Given the description of an element on the screen output the (x, y) to click on. 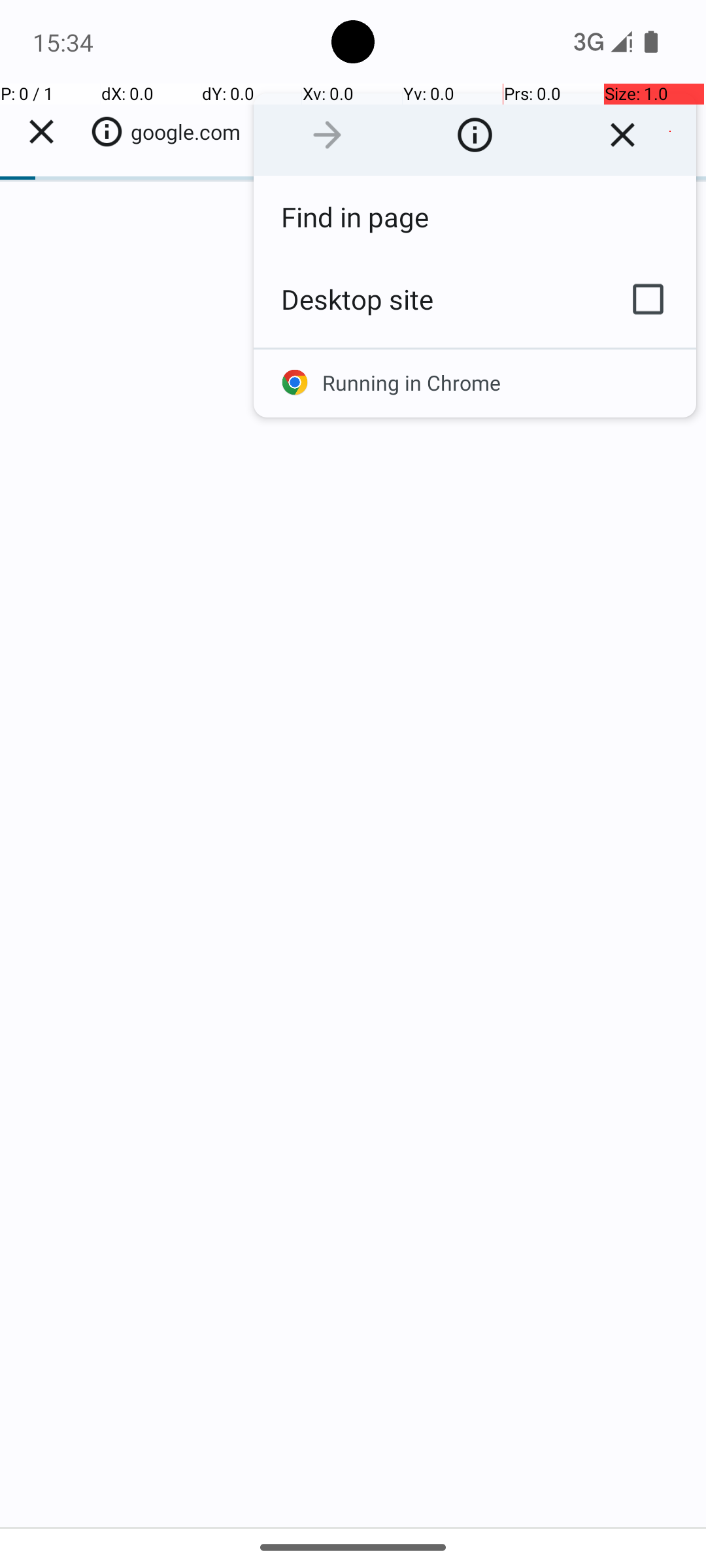
Running in Chrome Element type: android.widget.TextView (474, 382)
Go forward Element type: android.widget.ImageButton (326, 134)
View site information Element type: android.widget.ImageButton (474, 134)
Stop refreshing Element type: android.widget.ImageButton (622, 134)
Find in page Element type: android.widget.TextView (474, 216)
Desktop site Element type: android.widget.TextView (426, 299)
